Given the description of an element on the screen output the (x, y) to click on. 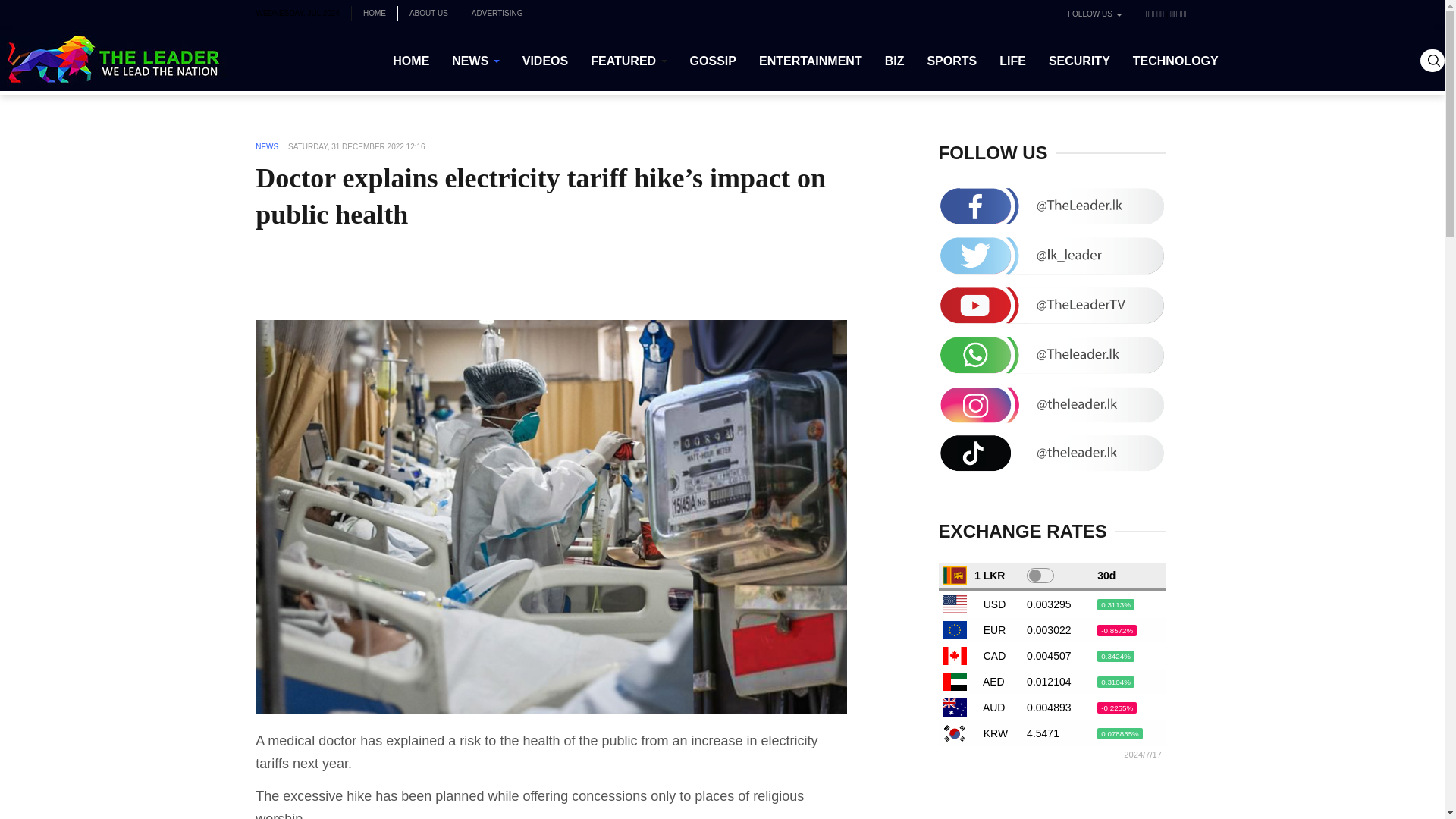
HOME (411, 60)
HOME (373, 13)
ADVERTISING (496, 13)
ENTERTAINMENT (809, 60)
GOSSIP (713, 60)
BIZ (894, 60)
Lanka Leader.lk (113, 60)
NEWS (475, 60)
VIDEOS (544, 60)
ABOUT US (428, 13)
FEATURED (628, 60)
FOLLOW US (1094, 13)
